Given the description of an element on the screen output the (x, y) to click on. 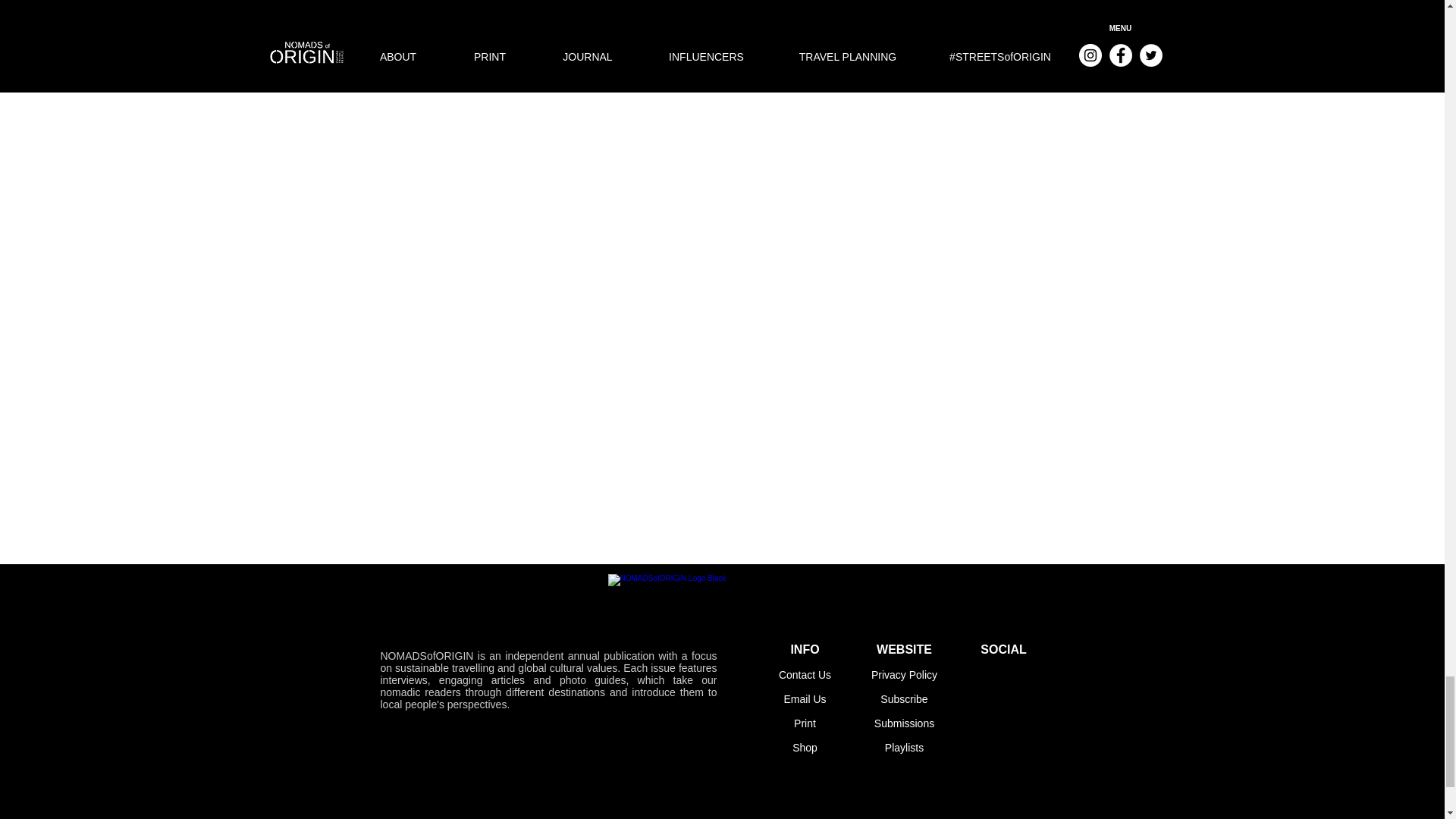
Contact Us (804, 674)
Submissions (904, 723)
Playlists (904, 747)
Print (804, 723)
Subscribe (903, 698)
Shop (804, 747)
Email Us (804, 698)
Privacy Policy (903, 674)
